Given the description of an element on the screen output the (x, y) to click on. 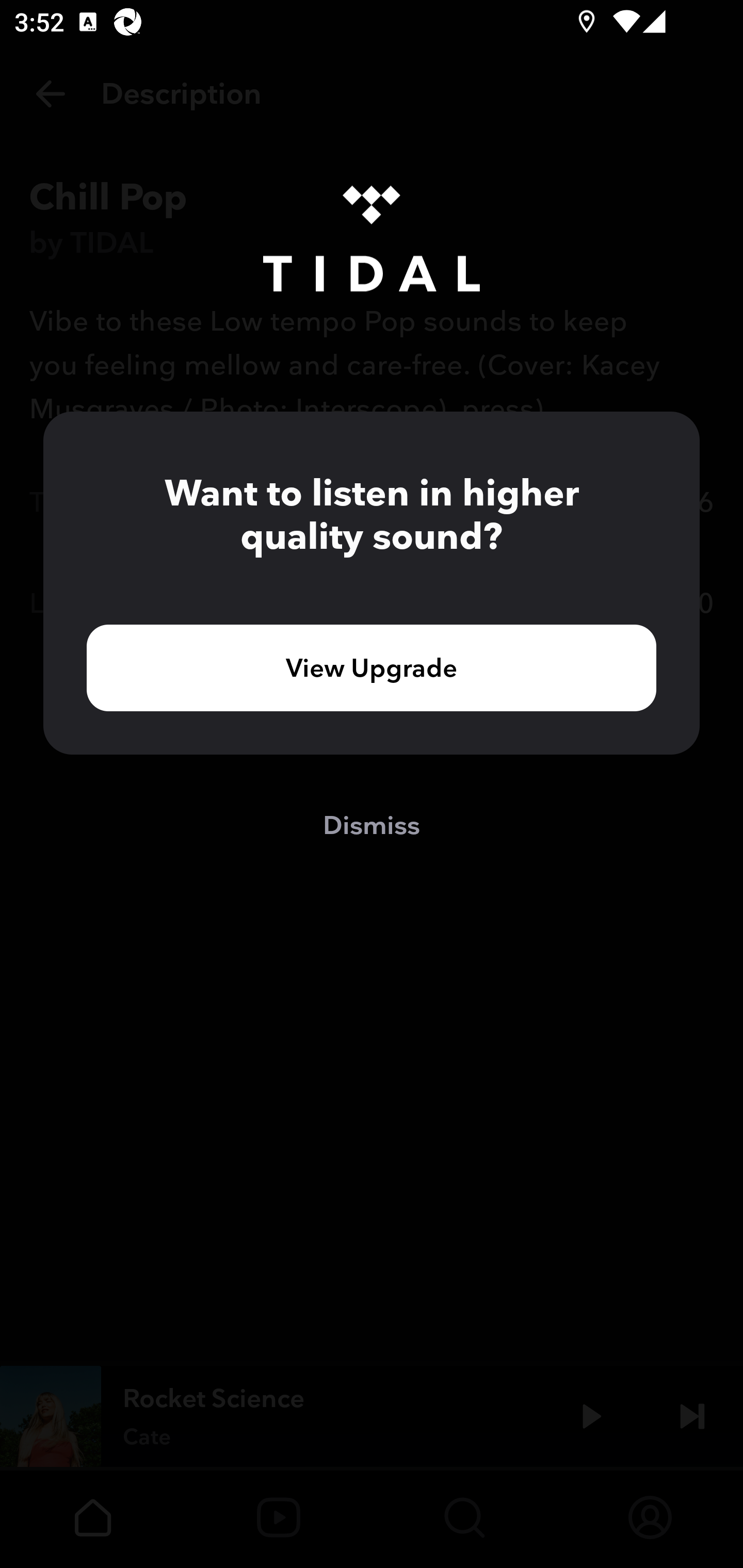
View Upgrade (371, 667)
Dismiss (371, 824)
